Given the description of an element on the screen output the (x, y) to click on. 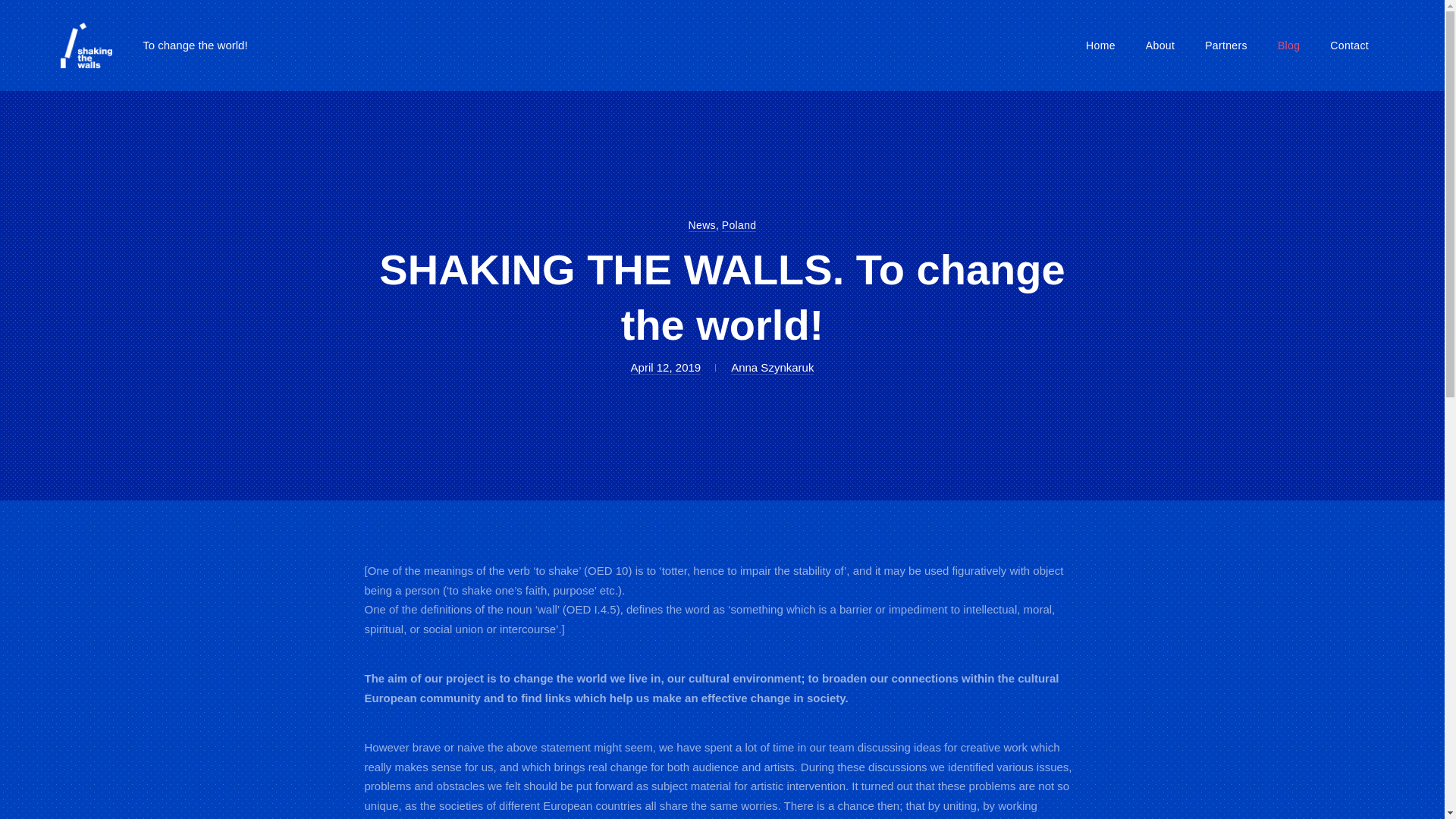
Home (665, 367)
Poland (1100, 44)
View all posts in News (739, 225)
Partners (702, 225)
News (1225, 44)
Blog (702, 225)
About (1288, 44)
View all posts in Poland (1160, 44)
Anna Szynkaruk (739, 225)
